Given the description of an element on the screen output the (x, y) to click on. 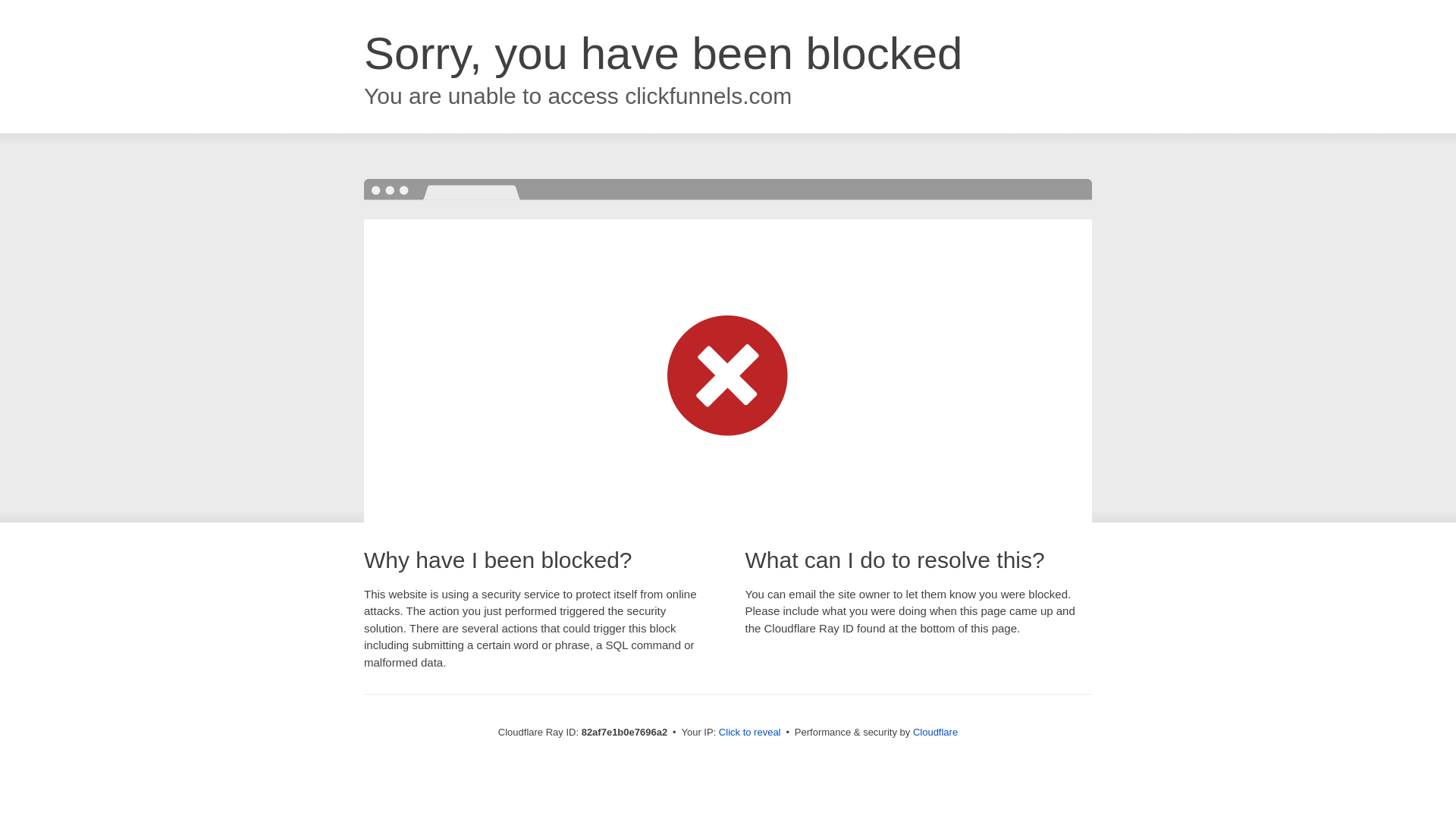
Cloudflare Element type: text (935, 731)
Click to reveal Element type: text (749, 732)
